Given the description of an element on the screen output the (x, y) to click on. 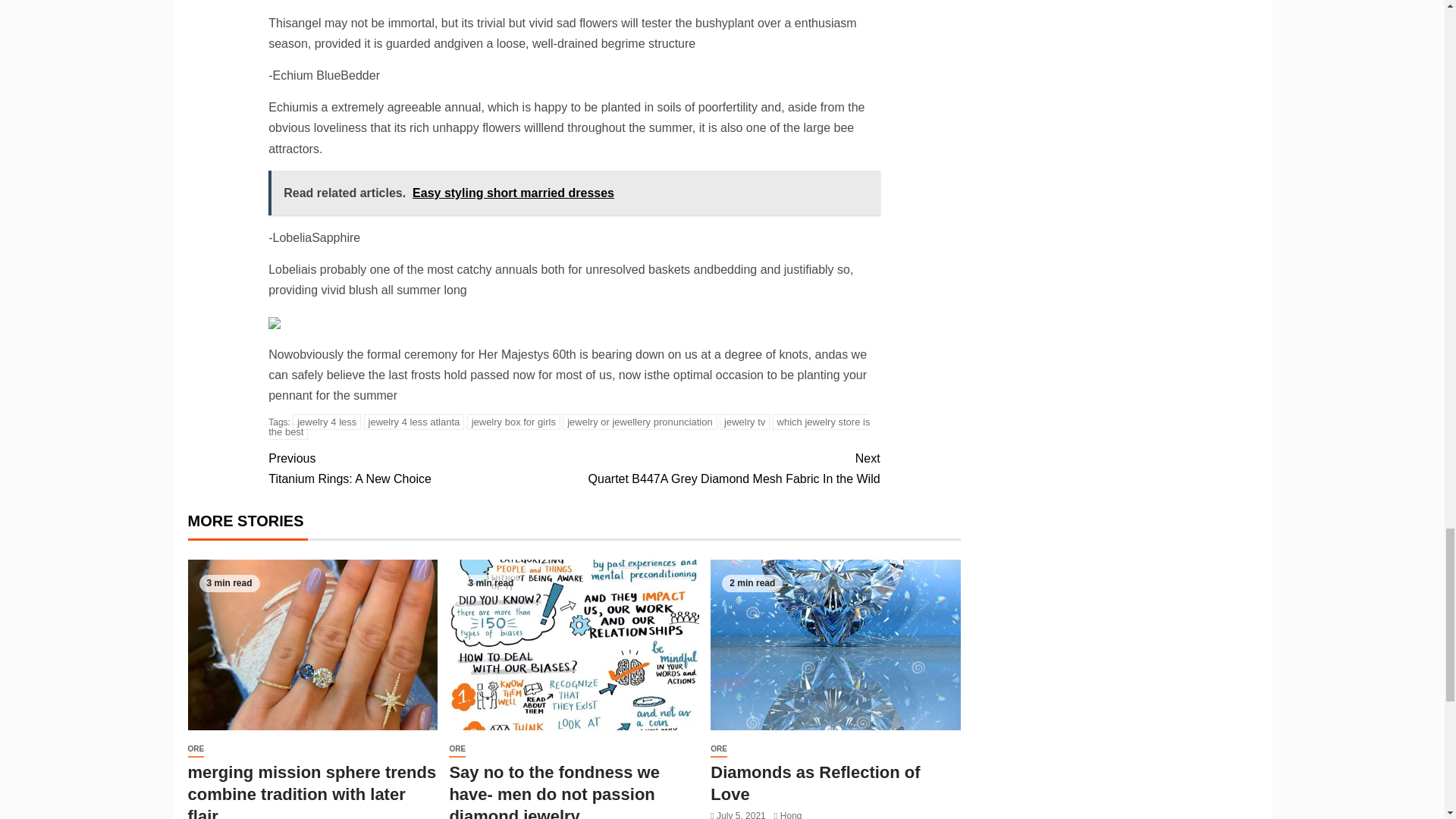
jewelry tv (744, 421)
which jewelry store is the best (568, 426)
jewelry 4 less atlanta (414, 421)
Diamonds as Reflection of Love (835, 644)
jewelry 4 less (726, 467)
jewelry box for girls (420, 467)
jewelry or jewellery pronunciation (326, 421)
Read related articles.  Easy styling short married dresses (513, 421)
